Given the description of an element on the screen output the (x, y) to click on. 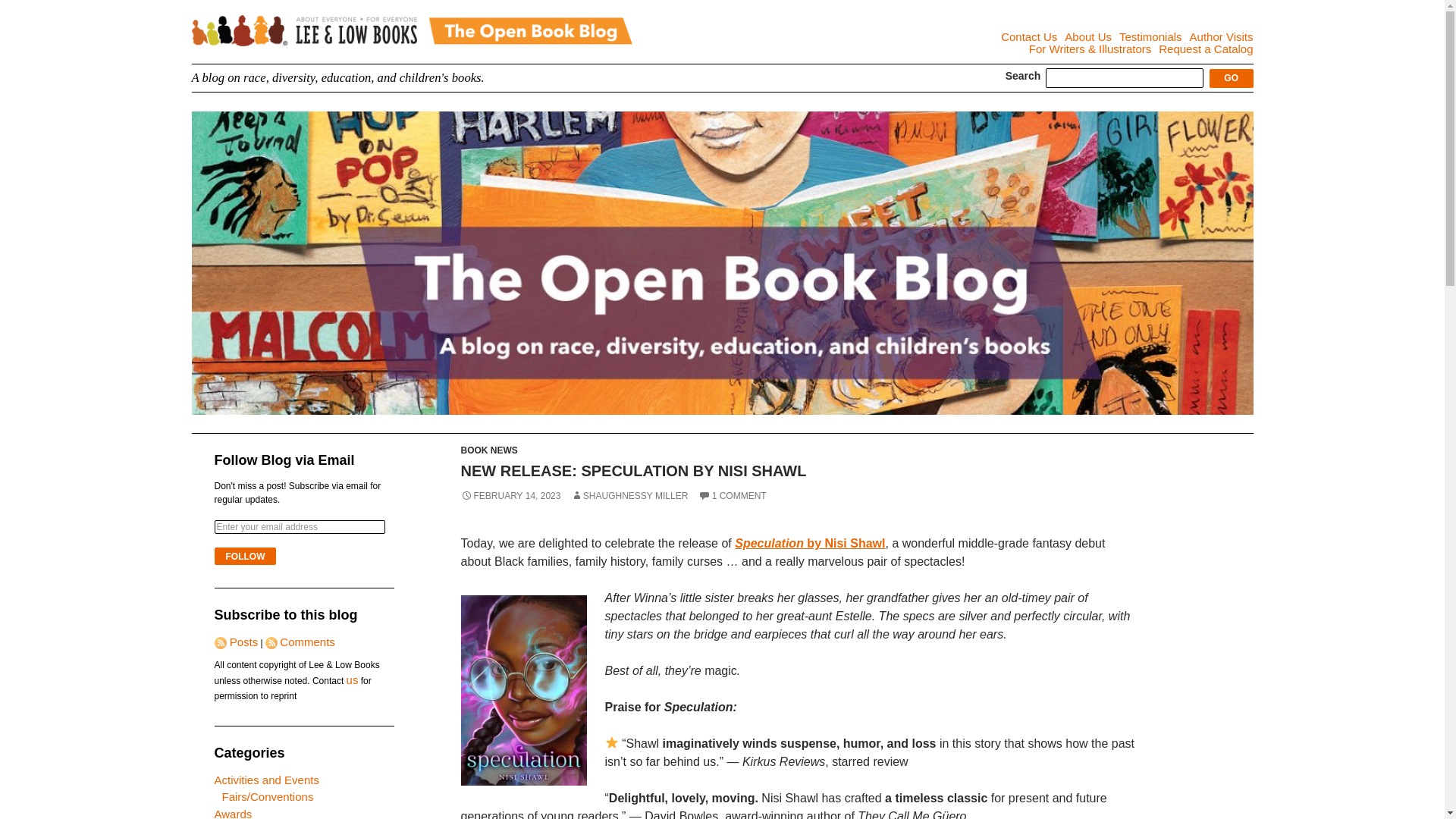
Contact Us (1029, 36)
SHAUGHNESSY MILLER (629, 495)
Follow (245, 556)
1 COMMENT (732, 495)
Request a Catalog (1205, 48)
FEBRUARY 14, 2023 (510, 495)
Testimonials (1150, 36)
Speculation by Nisi Shawl (810, 543)
Author Visits (1221, 36)
BOOK NEWS (489, 450)
About Us (1088, 36)
GO (1231, 77)
